Given the description of an element on the screen output the (x, y) to click on. 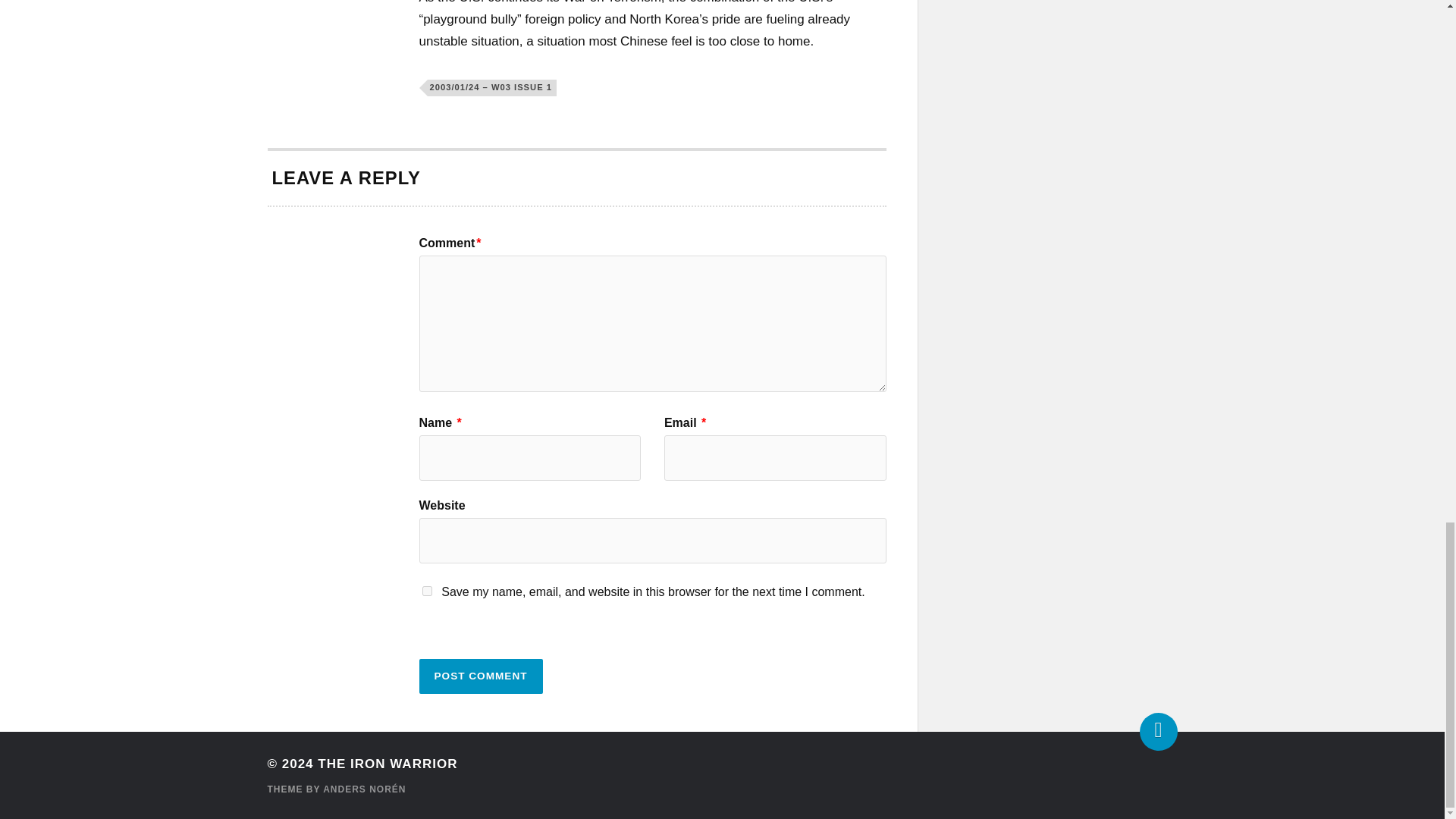
Post Comment (480, 676)
Post Comment (480, 676)
THE IRON WARRIOR (387, 763)
yes (426, 591)
